Given the description of an element on the screen output the (x, y) to click on. 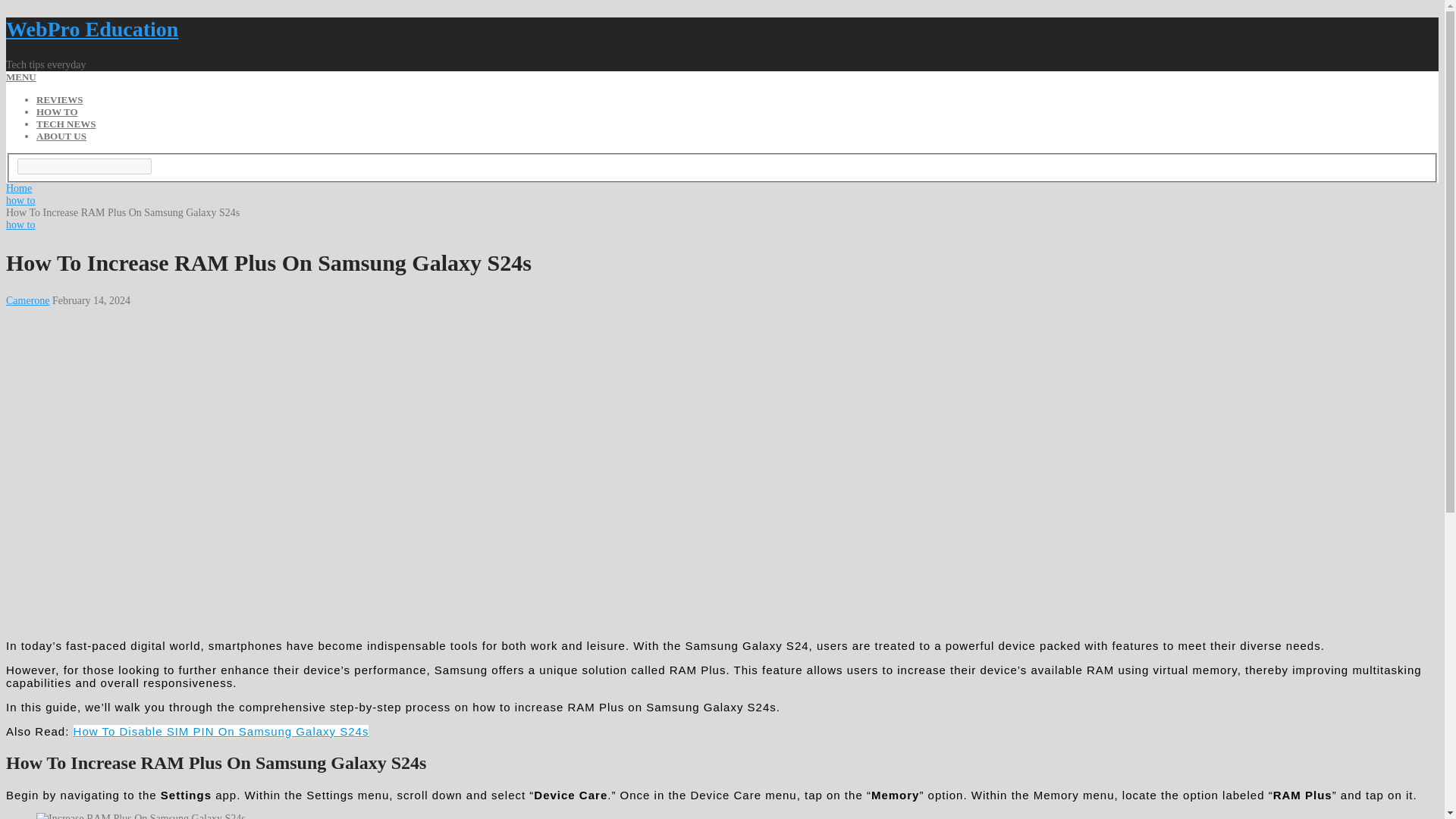
HOW TO (57, 111)
how to (19, 200)
TECH NEWS (66, 123)
How To Disable SIM PIN On Samsung Galaxy S24s (221, 730)
WebPro Education (91, 28)
REVIEWS (59, 99)
View all posts in how to (19, 224)
how to (19, 224)
Home (18, 188)
MENU (20, 76)
